Given the description of an element on the screen output the (x, y) to click on. 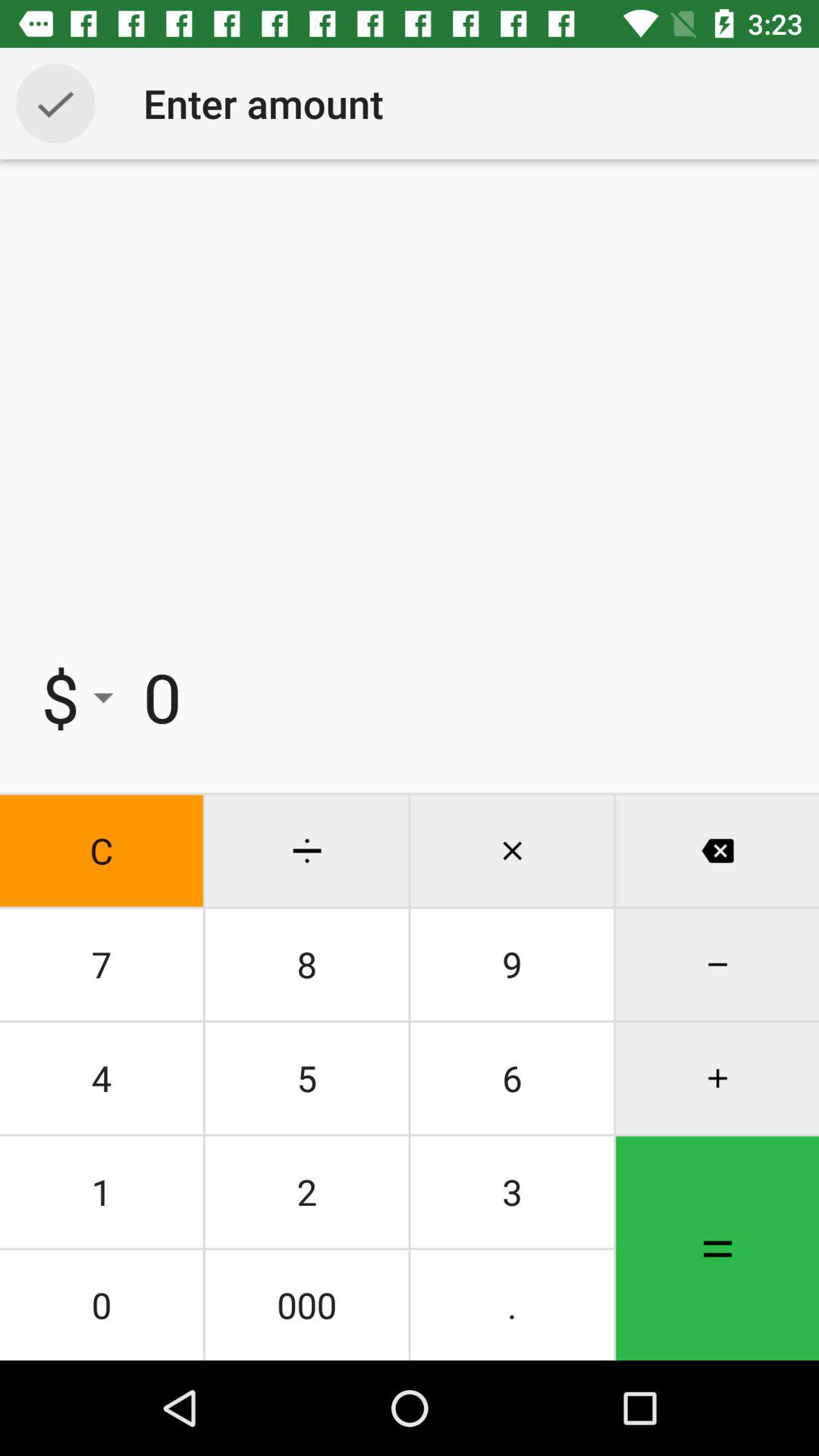
choose the icon above 2 icon (511, 1078)
